Given the description of an element on the screen output the (x, y) to click on. 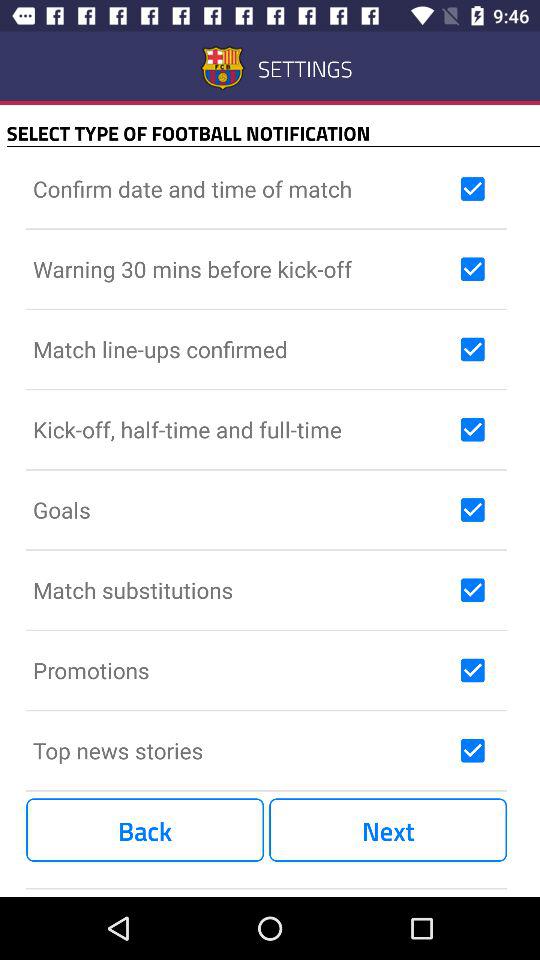
uncheck the box (472, 670)
